Given the description of an element on the screen output the (x, y) to click on. 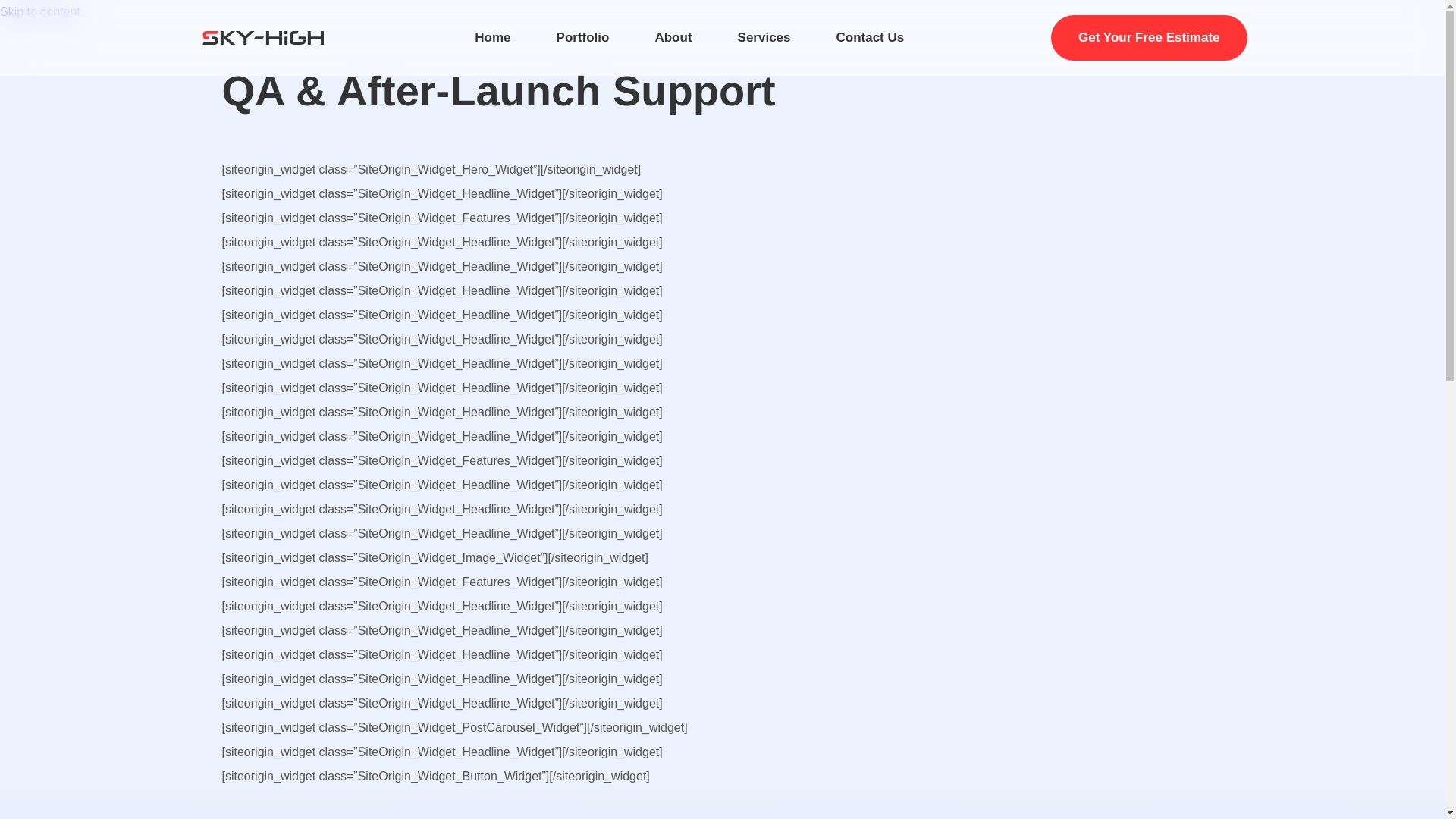
Contact Us (869, 37)
Skip to content (40, 11)
About (672, 37)
Services (764, 37)
Portfolio (583, 37)
Get Your Free Estimate (1148, 37)
Home (492, 37)
